Given the description of an element on the screen output the (x, y) to click on. 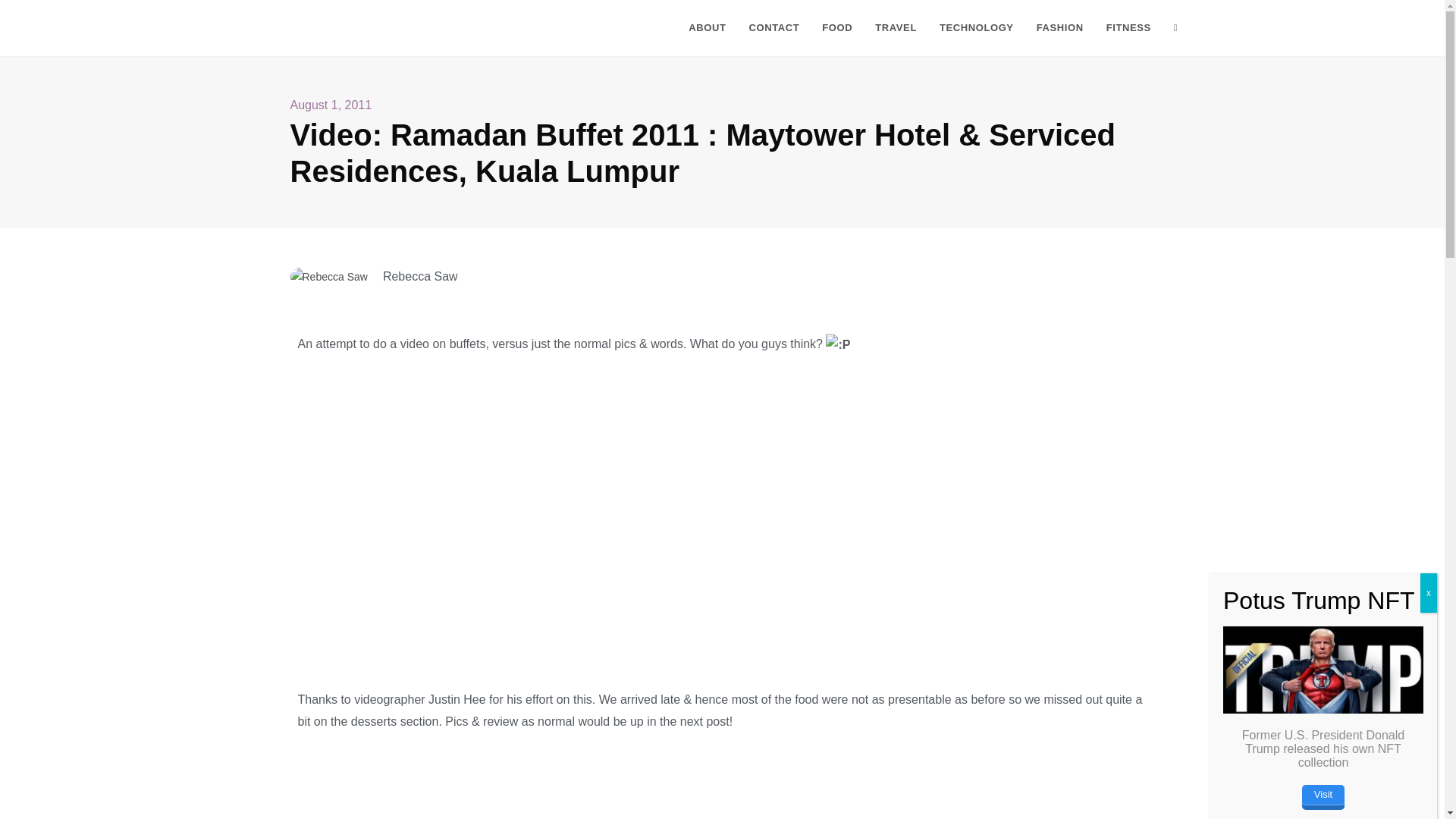
August 1, 2011 (330, 106)
FASHION (1059, 28)
FOOD (836, 28)
ABOUT (706, 28)
TECHNOLOGY (976, 28)
CONTACT (774, 28)
Rebecca Saw (322, 27)
TRAVEL (895, 28)
Advertisement (722, 809)
FITNESS (1127, 28)
